Given the description of an element on the screen output the (x, y) to click on. 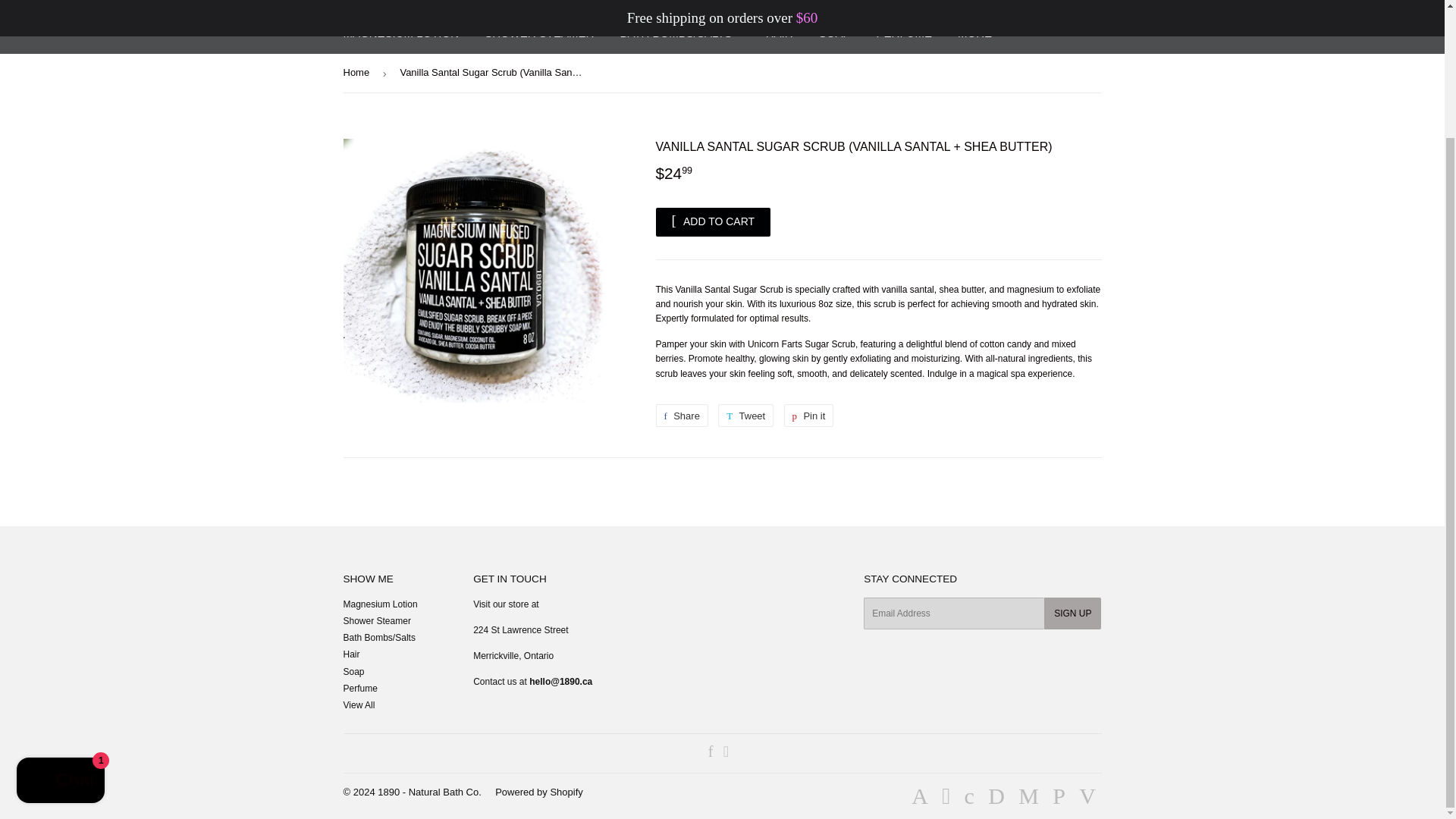
Pin on Pinterest (809, 415)
MAGNESIUM LOTION (400, 33)
Shopify online store chat (60, 626)
PERFUME (809, 415)
Share on Facebook (903, 33)
MORE (681, 415)
Tweet on Twitter (681, 415)
SOAP (976, 33)
SHOWER STEAMER (745, 415)
ADD TO CART (834, 33)
HAIR (539, 33)
Magnesium Lotion (712, 222)
